Given the description of an element on the screen output the (x, y) to click on. 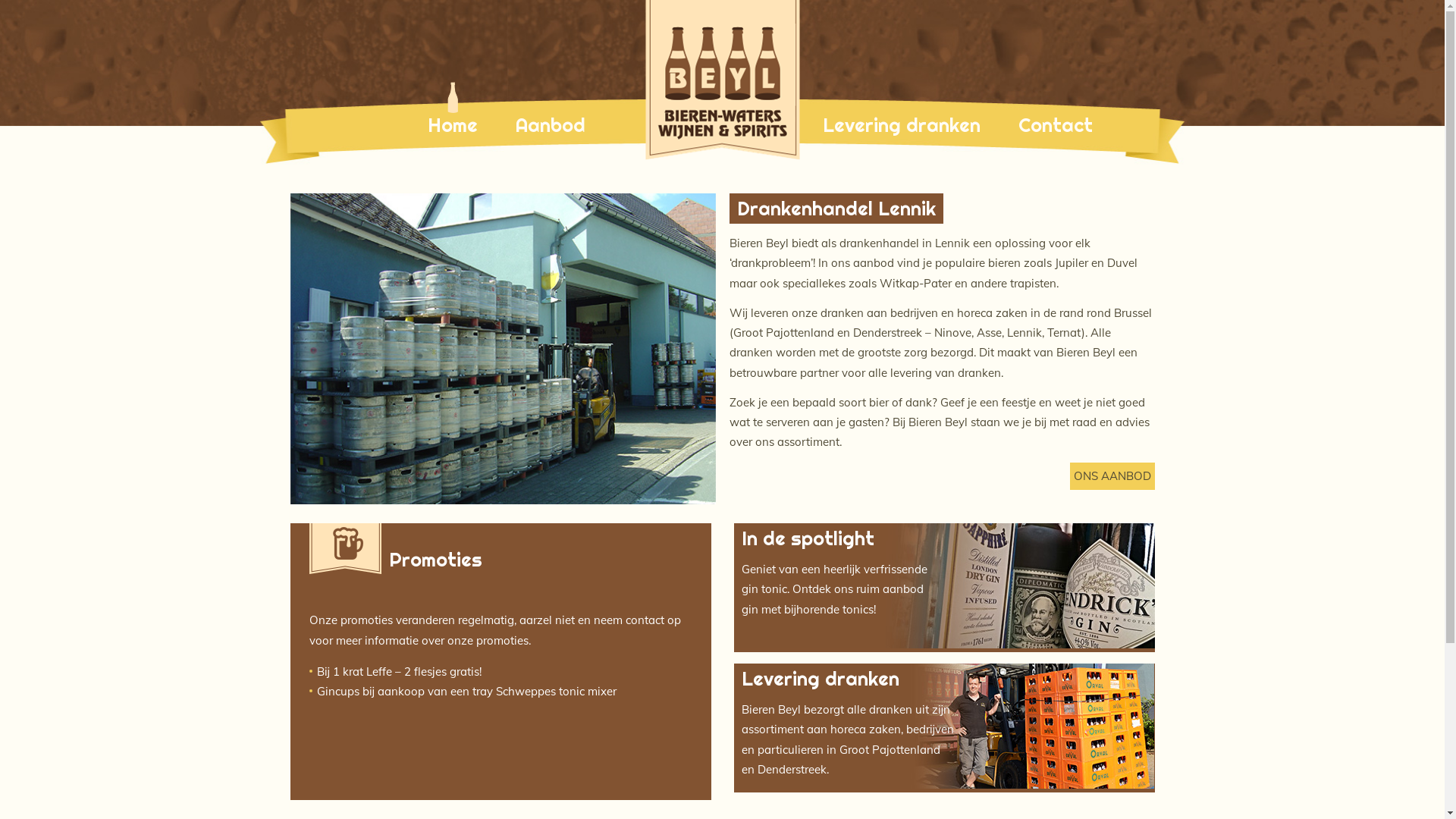
ONS AANBOD Element type: text (1111, 475)
Home Element type: text (452, 125)
Levering dranken Element type: text (901, 125)
Aanbod Element type: text (550, 125)
Contact Element type: text (1055, 125)
